Given the description of an element on the screen output the (x, y) to click on. 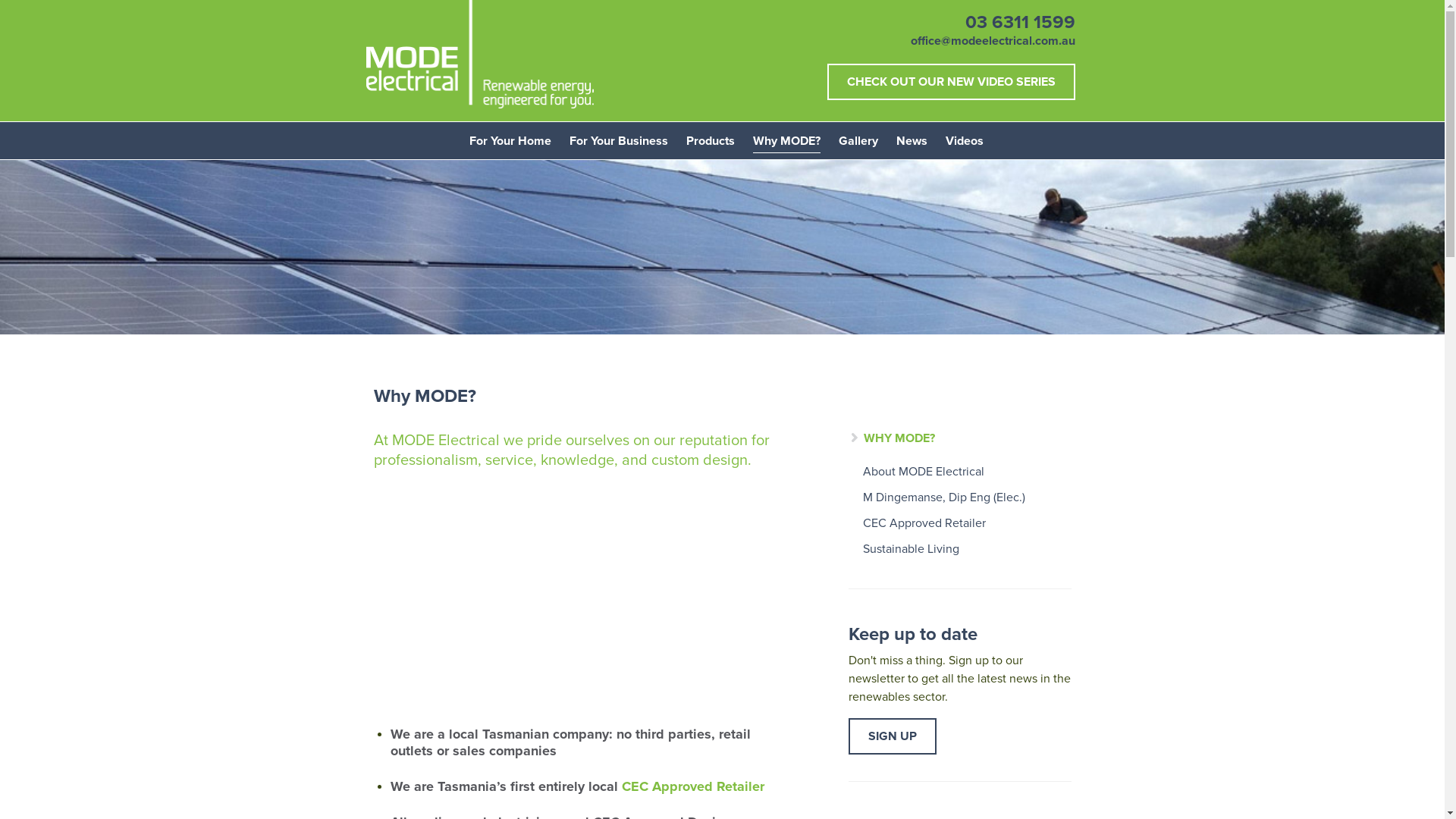
For Your Home Element type: text (509, 137)
Videos Element type: text (963, 137)
CEC Approved Retailer Element type: text (692, 786)
03 6311 1599 Element type: text (1019, 22)
Gallery Element type: text (858, 137)
For Your Business Element type: text (617, 137)
WHY MODE? Element type: text (891, 437)
Why MODE? Element type: text (785, 137)
About MODE Electrical Element type: text (959, 471)
SIGN UP Element type: text (892, 736)
CEC Approved Retailer Element type: text (959, 523)
CHECK OUT OUR NEW VIDEO SERIES Element type: text (950, 81)
News Element type: text (911, 137)
M Dingemanse, Dip Eng (Elec.) Element type: text (959, 497)
office@modeelectrical.com.au Element type: text (992, 40)
Products Element type: text (709, 137)
Sustainable Living Element type: text (959, 548)
